Given the description of an element on the screen output the (x, y) to click on. 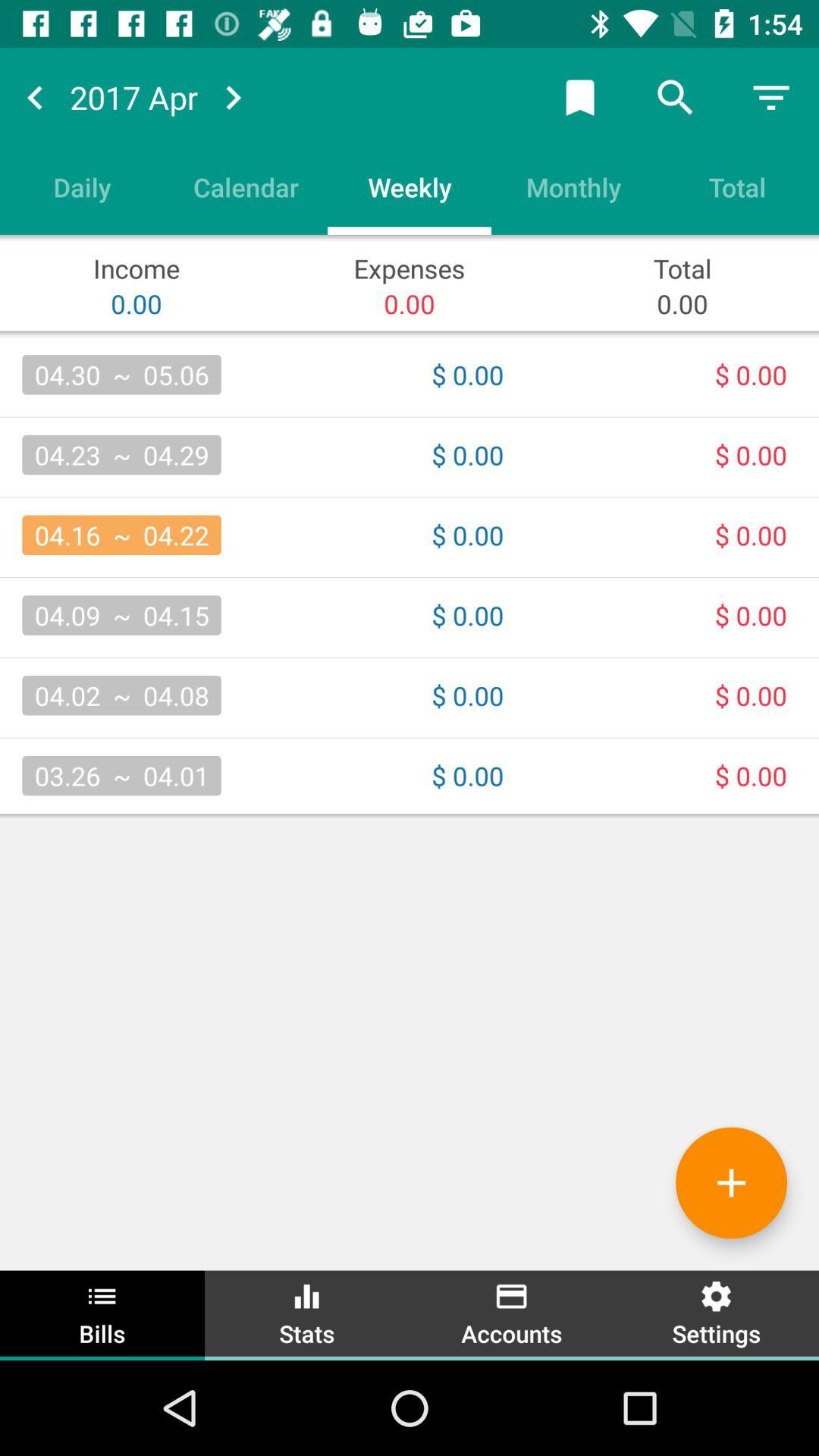
turn on item next to total icon (573, 186)
